Given the description of an element on the screen output the (x, y) to click on. 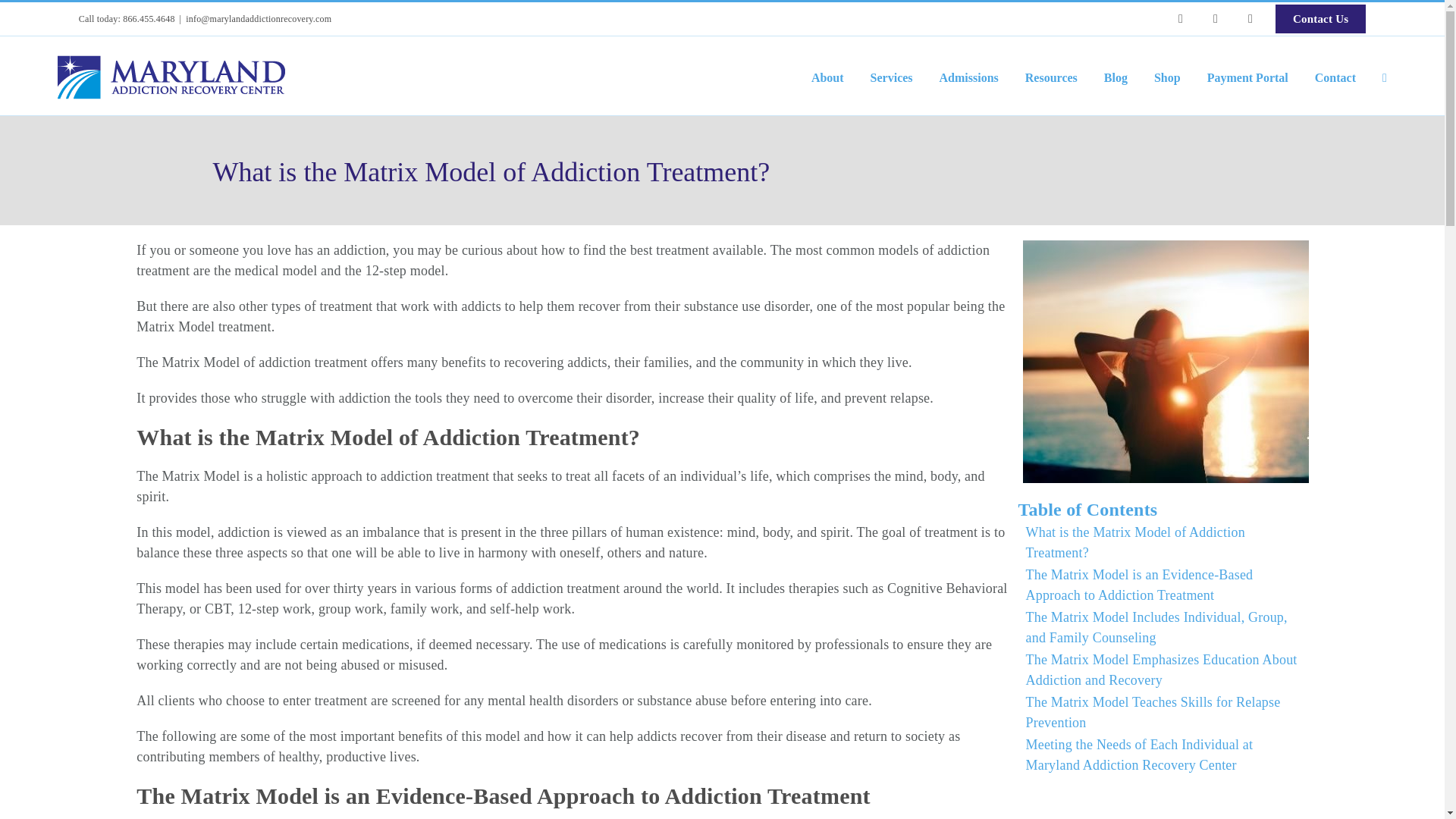
866.455.4648 (148, 18)
Contact Us (1316, 19)
What is the Matrix Model of Addiction Treatment? (721, 176)
